Given the description of an element on the screen output the (x, y) to click on. 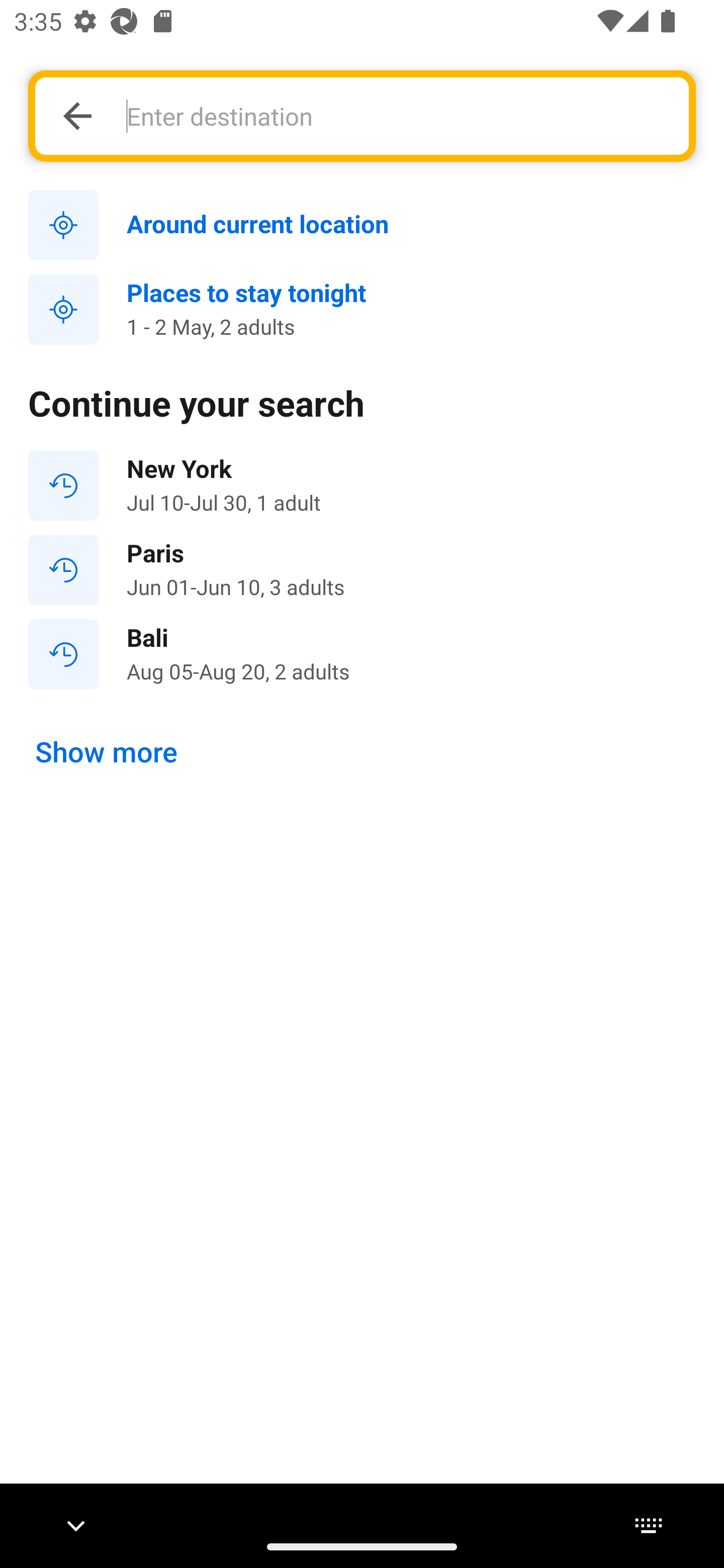
Enter destination (396, 115)
Around current location (362, 225)
Places to stay tonight 1 - 2 May, 2 adults (362, 309)
New York Jul 10-Jul 30, 1 adult  (362, 485)
Paris Jun 01-Jun 10, 3 adults  (362, 569)
Bali Aug 05-Aug 20, 2 adults  (362, 653)
Show more (106, 752)
